Given the description of an element on the screen output the (x, y) to click on. 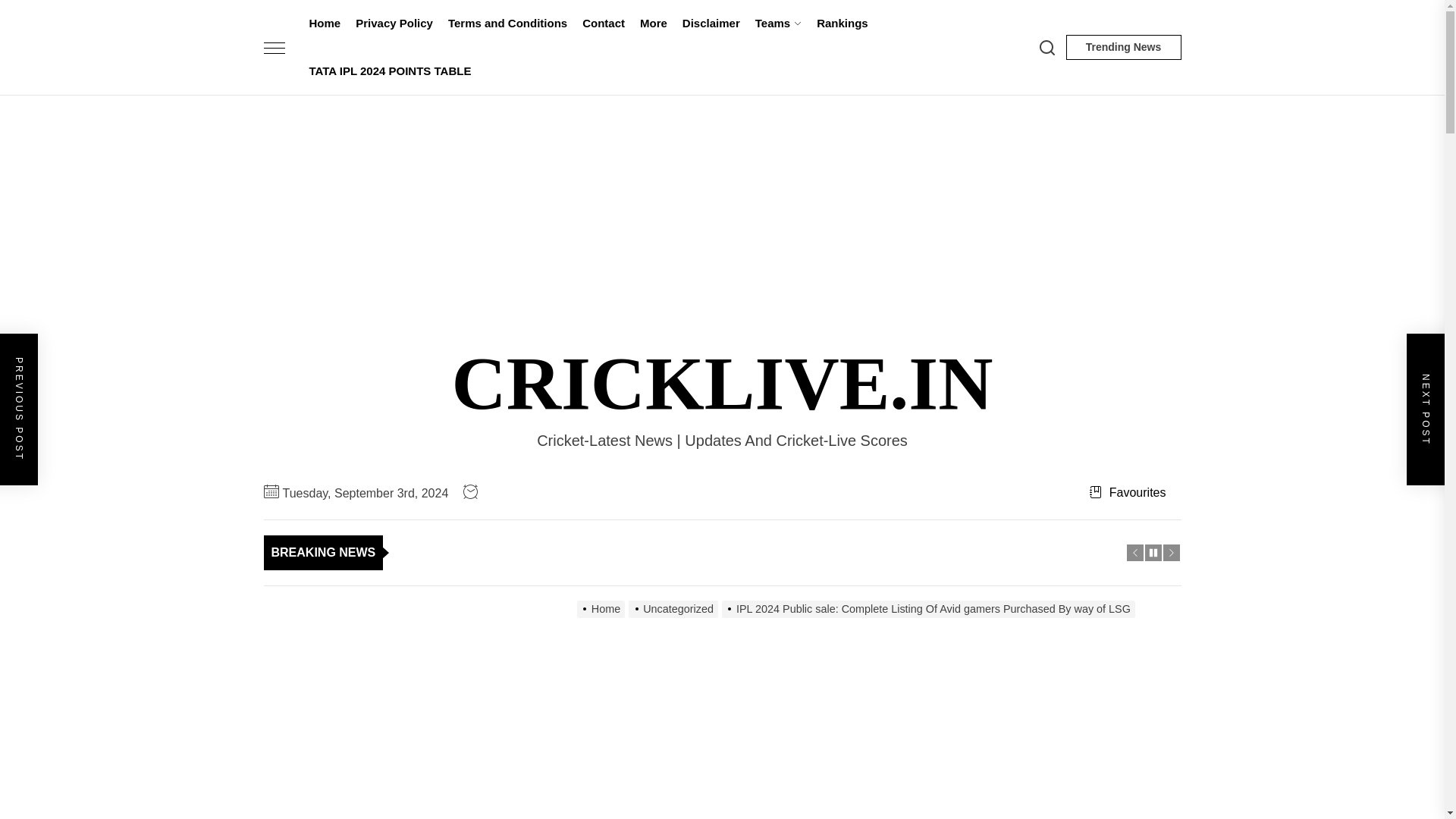
Trending News (1122, 47)
Disclaimer (711, 23)
Terms and Conditions (508, 23)
Privacy Policy (394, 23)
Contact (603, 23)
Home (325, 23)
Rankings (842, 23)
TATA IPL 2024 POINTS TABLE (390, 70)
Teams (778, 23)
